Given the description of an element on the screen output the (x, y) to click on. 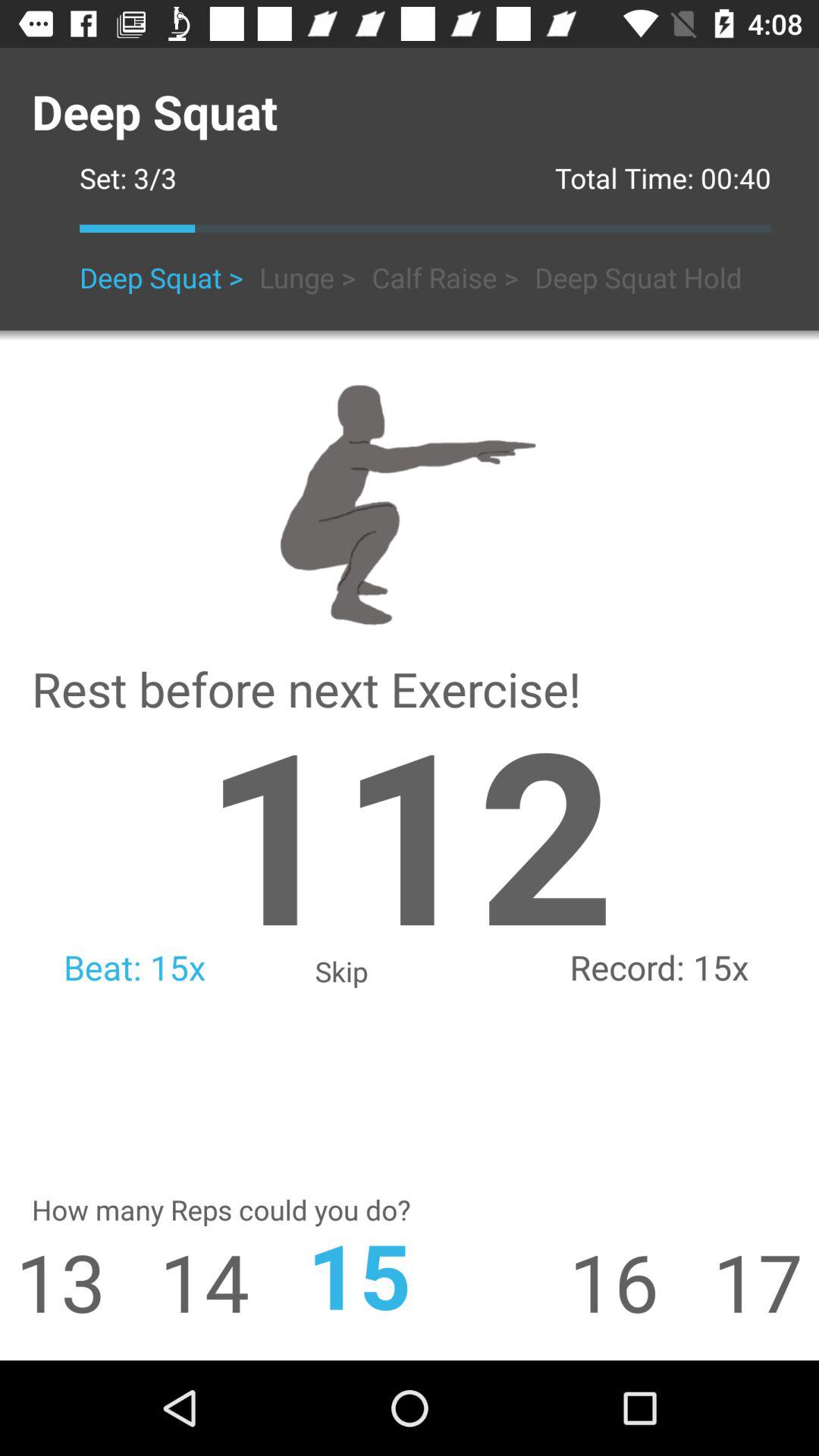
choose the app to the right of 14 app (409, 1274)
